Given the description of an element on the screen output the (x, y) to click on. 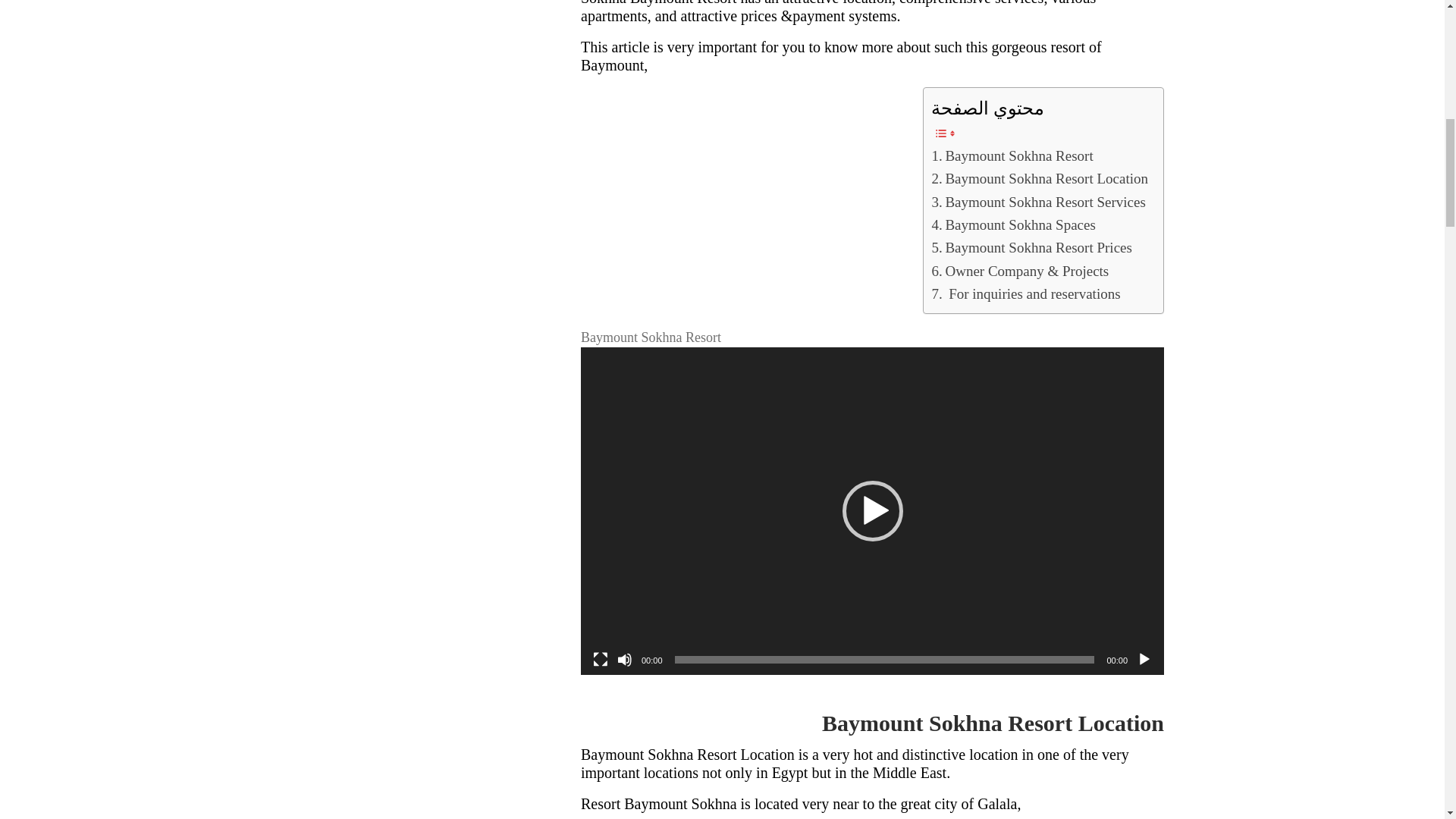
Baymount Sokhna Resort Services (1037, 201)
Baymount Sokhna Resort Prices (1031, 247)
Baymount Sokhna Resort Location (1039, 178)
Baymount Sokhna Resort (1012, 155)
 For inquiries and reservations (1025, 293)
Baymount Sokhna Spaces (1012, 224)
Baymount Sokhna Resort Services (1037, 201)
Baymount Sokhna Resort (1012, 155)
Baymount Sokhna Spaces (1012, 224)
Baymount Sokhna Resort Location (1039, 178)
Baymount Sokhna Resort Prices (1031, 247)
